Given the description of an element on the screen output the (x, y) to click on. 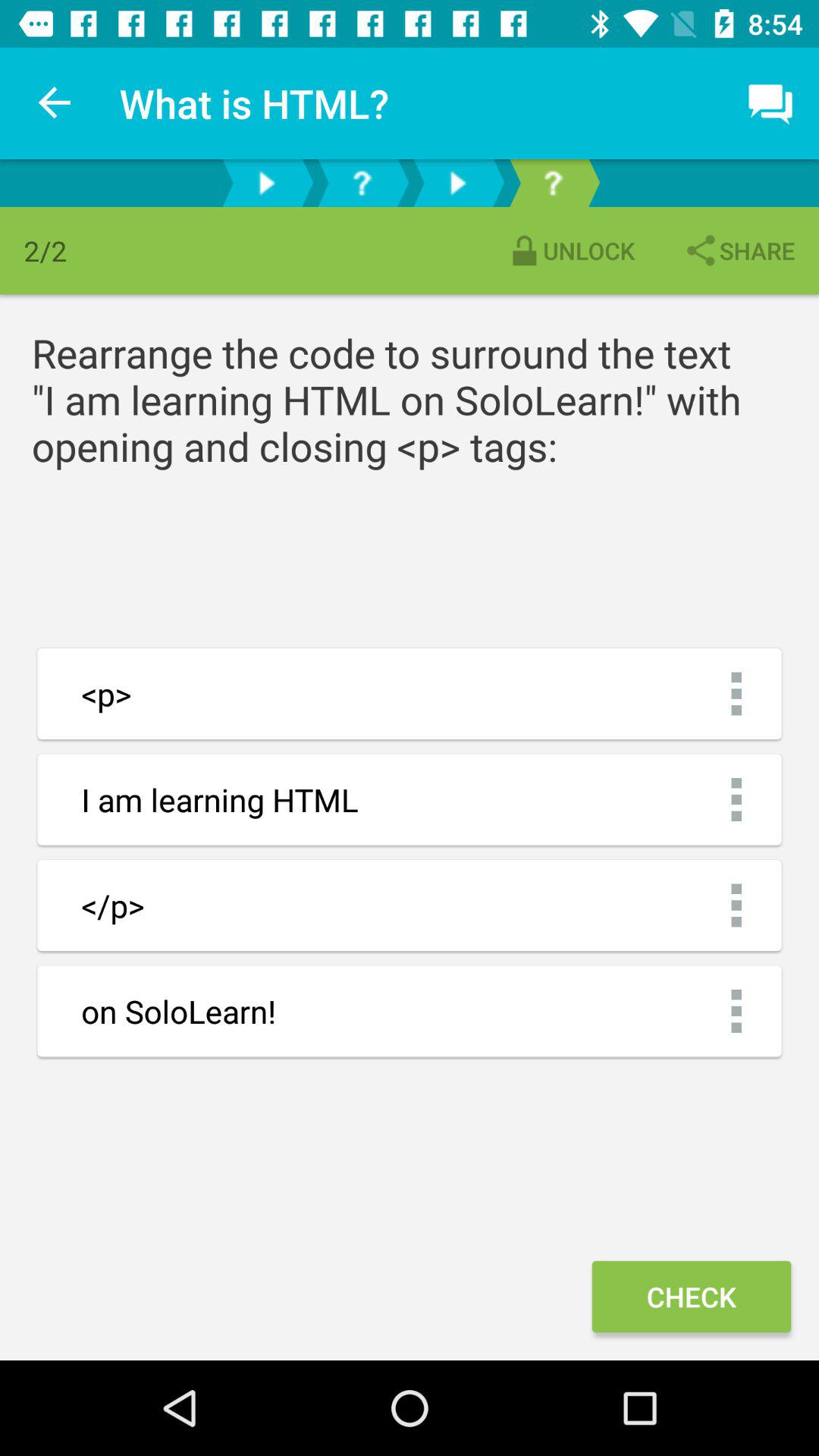
see next page (457, 183)
